Given the description of an element on the screen output the (x, y) to click on. 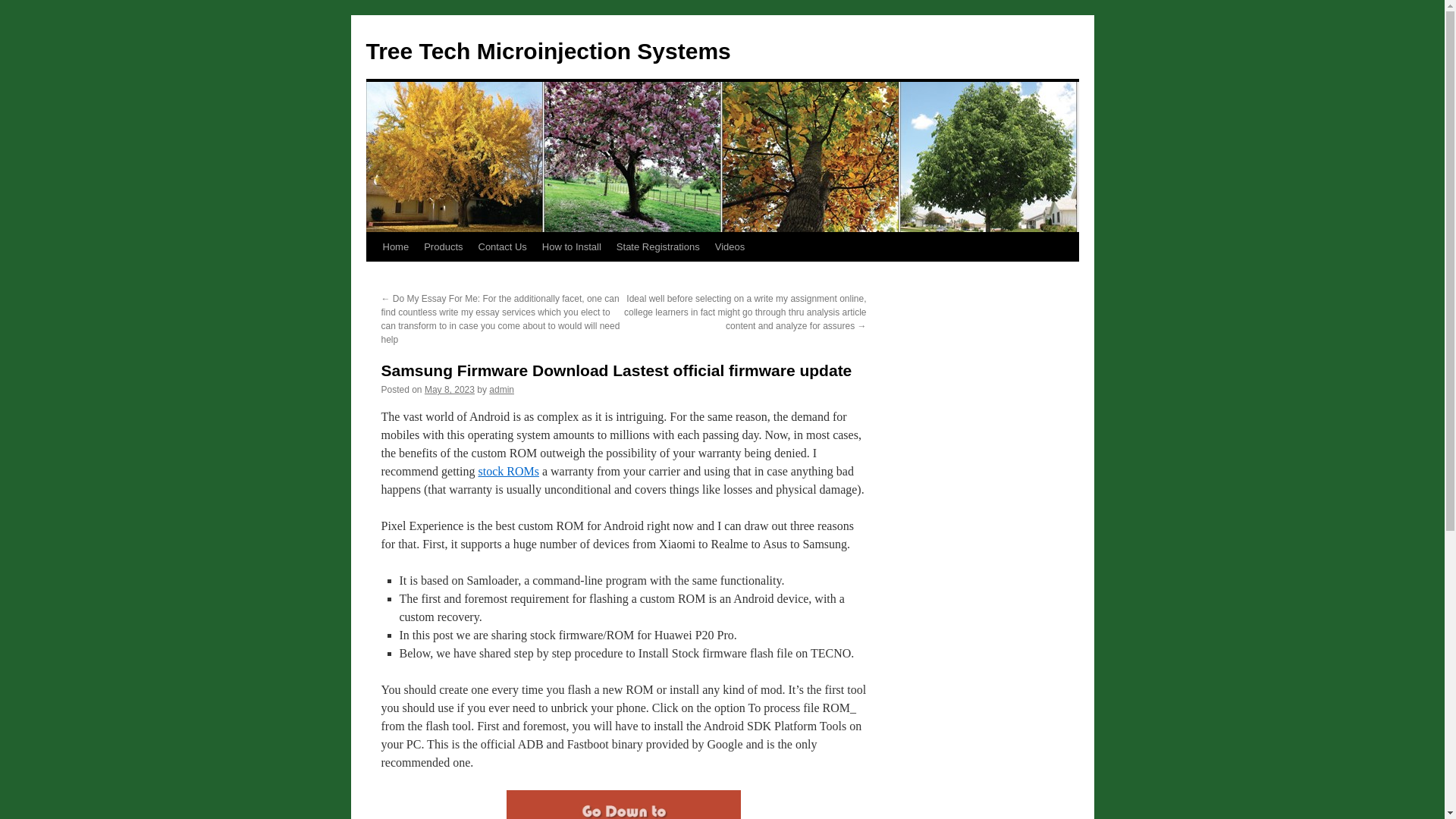
admin (501, 389)
View all posts by admin (501, 389)
Products (443, 246)
7:27 pm (449, 389)
Home (395, 246)
Videos (729, 246)
Tree Tech Microinjection Systems (547, 50)
How to Install (571, 246)
Tree Tech Microinjection Systems (547, 50)
State Registrations (657, 246)
